Given the description of an element on the screen output the (x, y) to click on. 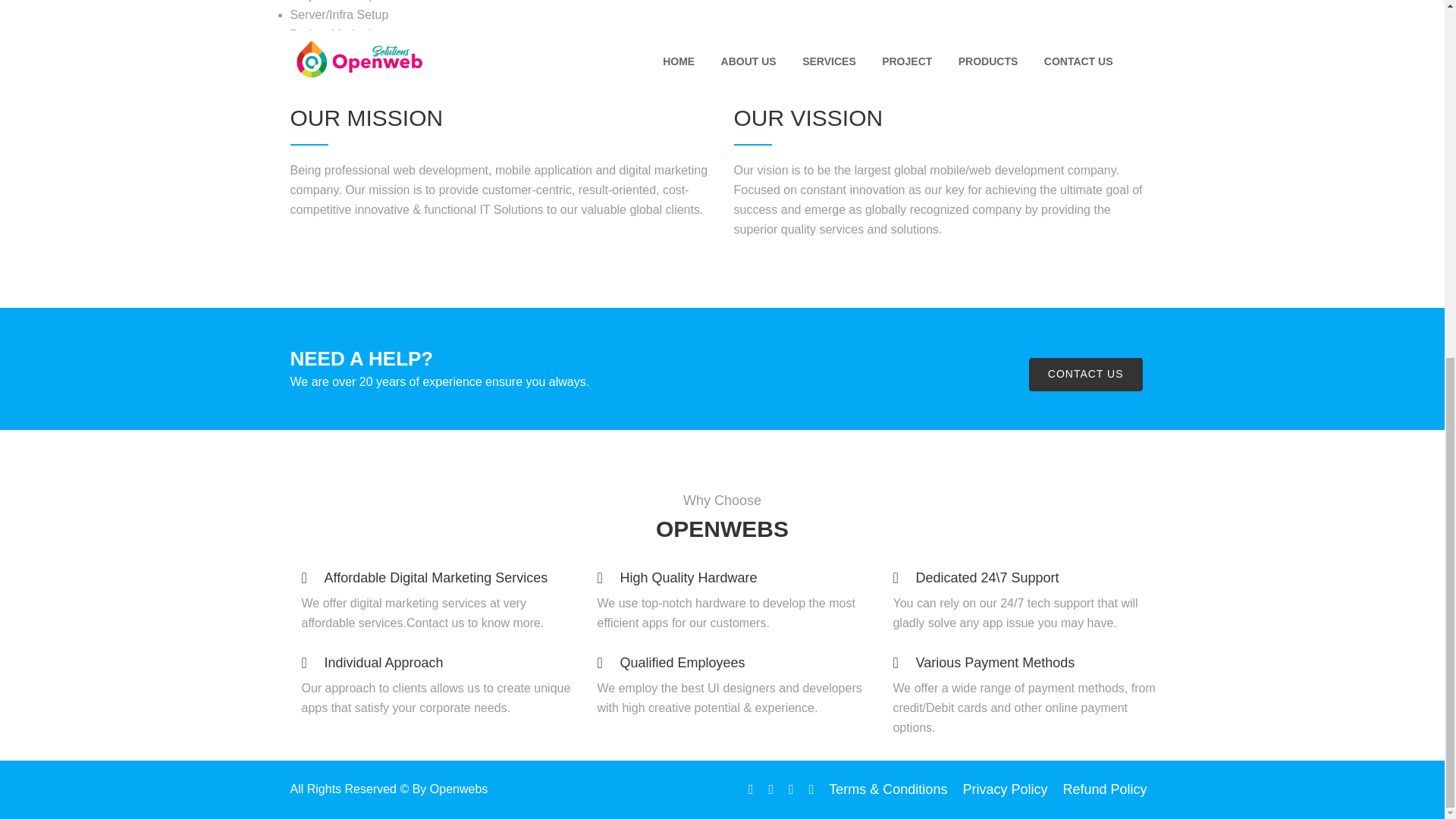
Privacy Policy (1004, 789)
Refund Policy (1104, 789)
CONTACT US (1084, 374)
